Given the description of an element on the screen output the (x, y) to click on. 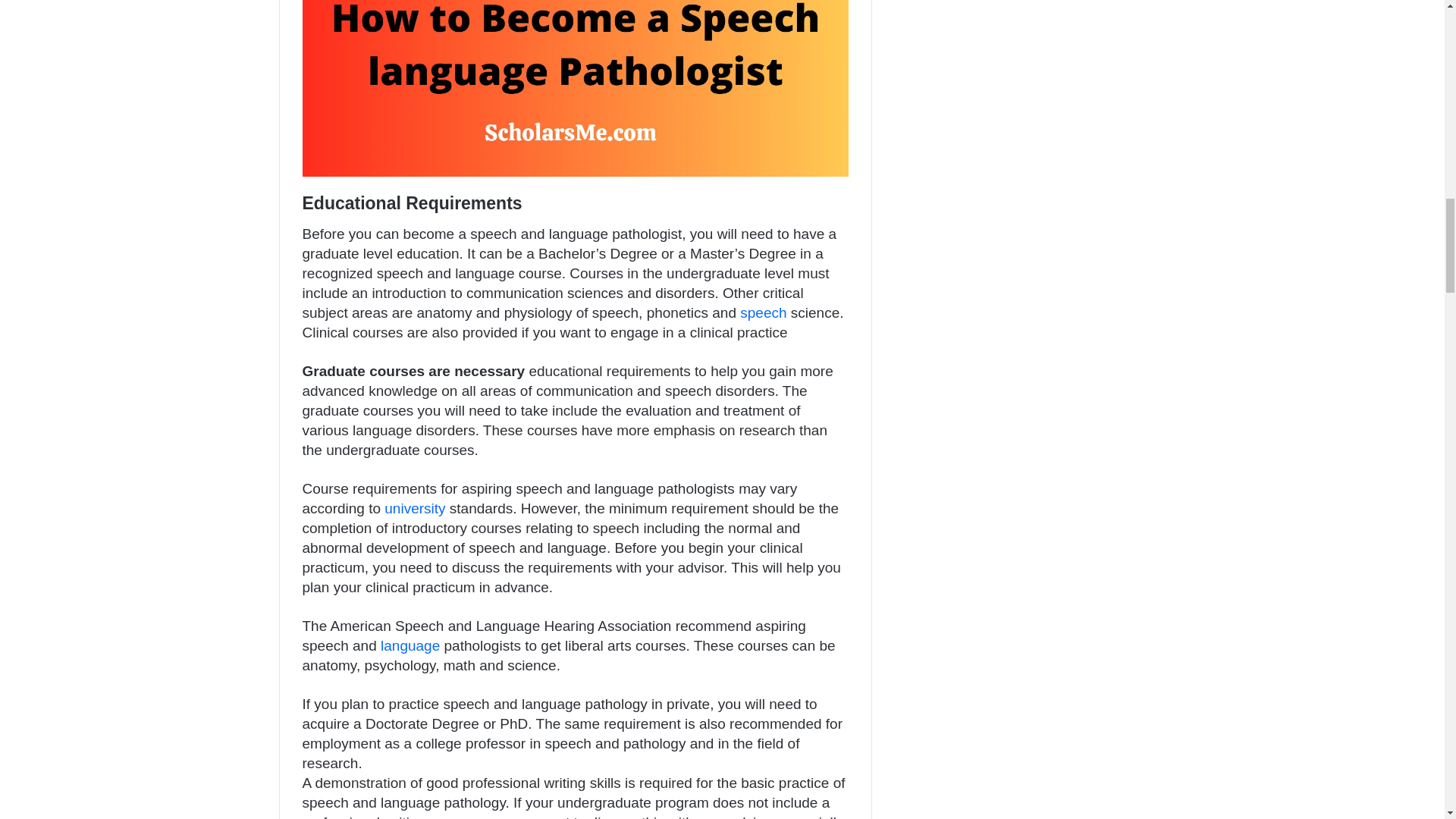
university (414, 508)
language (409, 645)
speech (762, 312)
